Given the description of an element on the screen output the (x, y) to click on. 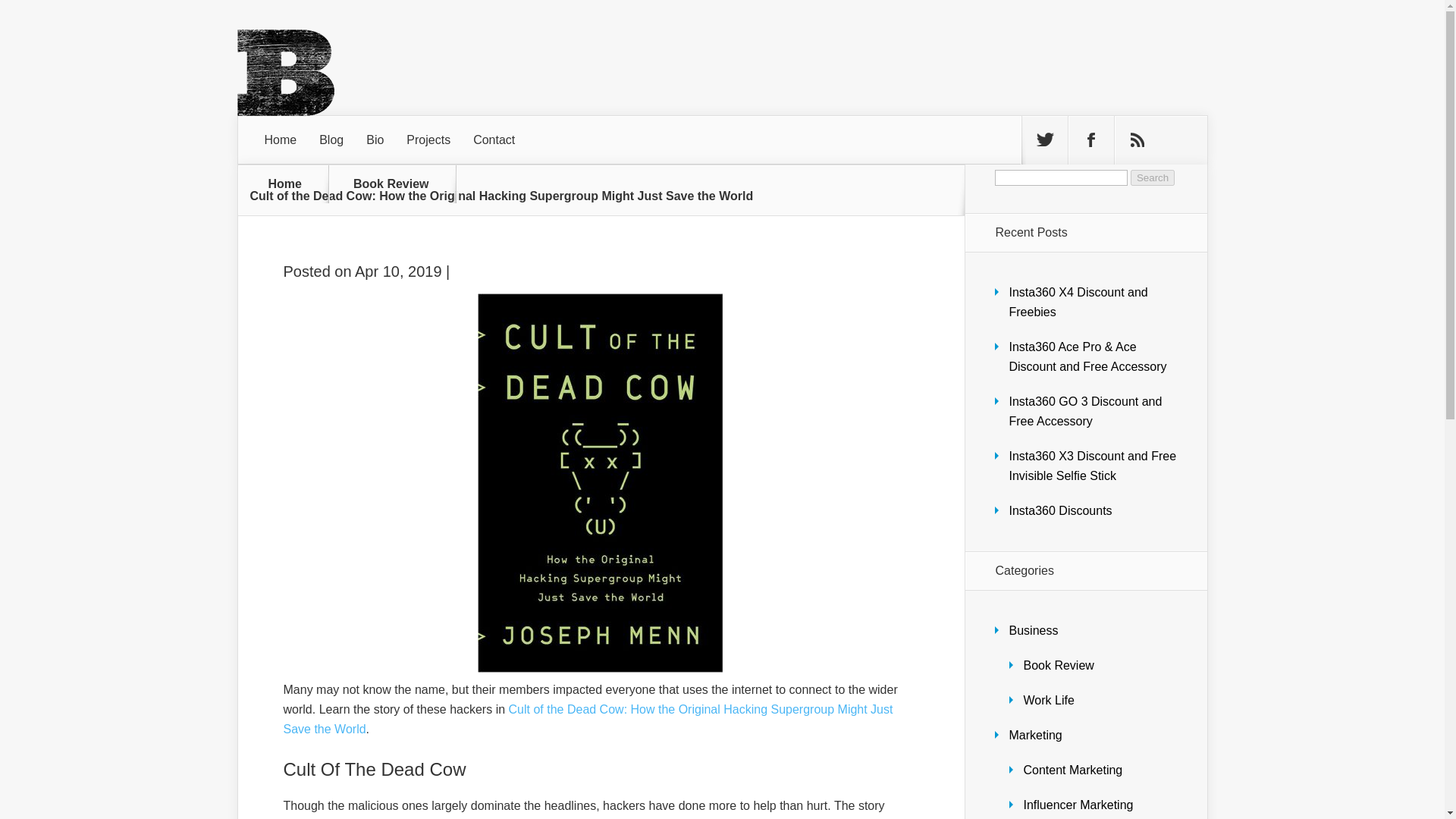
Projects (427, 140)
Search (1152, 177)
Insta360 X3 Discount and Free Invisible Selfie Stick (1092, 465)
Search (1152, 177)
Contact (493, 140)
Subscribe To Rss Feed (1137, 140)
Follow us on Twitter (1044, 140)
Home (285, 184)
Insta360 X4 Discount and Freebies (1078, 301)
Follow us on Facebook (1090, 140)
